Given the description of an element on the screen output the (x, y) to click on. 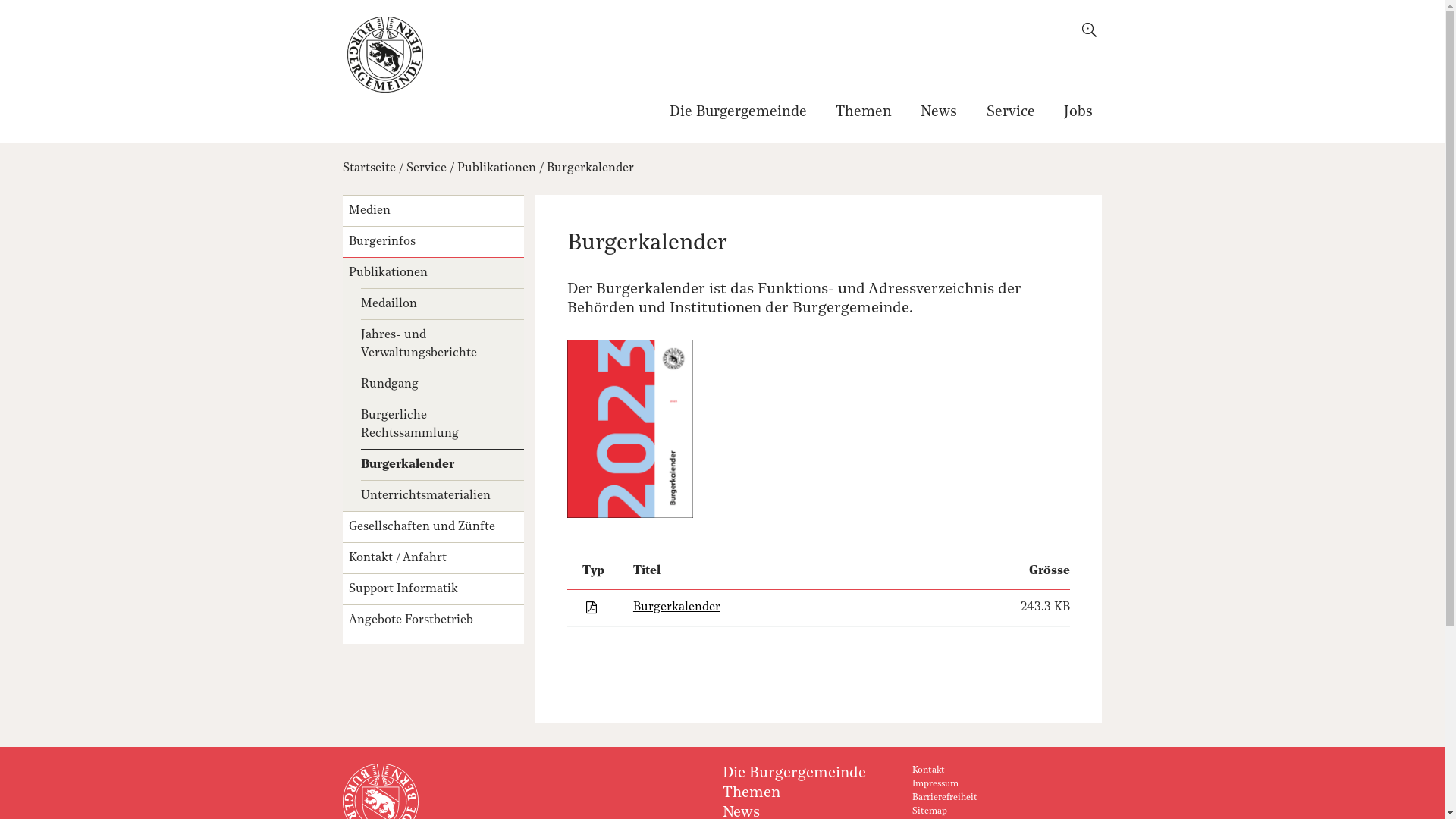
Die Burgergemeinde Element type: text (793, 773)
Themen Element type: text (750, 792)
Burgerliche Rechtssammlung Element type: text (441, 423)
Jahres- und Verwaltungsberichte Element type: text (441, 343)
Medaillon Element type: text (441, 303)
Kontakt / Anfahrt Element type: text (432, 557)
Barrierefreiheit Element type: text (944, 797)
Publikationen Element type: text (496, 168)
Jobs Element type: text (1075, 116)
Service Element type: text (426, 168)
Die Burgergemeinde Element type: text (740, 116)
Unterrichtsmaterialien Element type: text (441, 495)
Rundgang Element type: text (441, 383)
Medien Element type: text (432, 209)
Sitemap Element type: text (929, 810)
News Element type: text (938, 116)
Angebote Forstbetrieb Element type: text (432, 619)
Burgerkalender Element type: text (676, 607)
Burgerkalender Element type: text (589, 168)
Service Element type: text (1009, 116)
Burgerkalender Element type: text (441, 464)
Support Informatik Element type: text (432, 588)
Startseite Element type: text (368, 168)
Burgerinfos Element type: text (432, 241)
Kontakt Element type: text (928, 770)
Themen Element type: text (863, 116)
Burgergemeinde Bern Element type: hover (385, 54)
Publikationen Element type: text (432, 272)
Impressum Element type: text (935, 783)
